Given the description of an element on the screen output the (x, y) to click on. 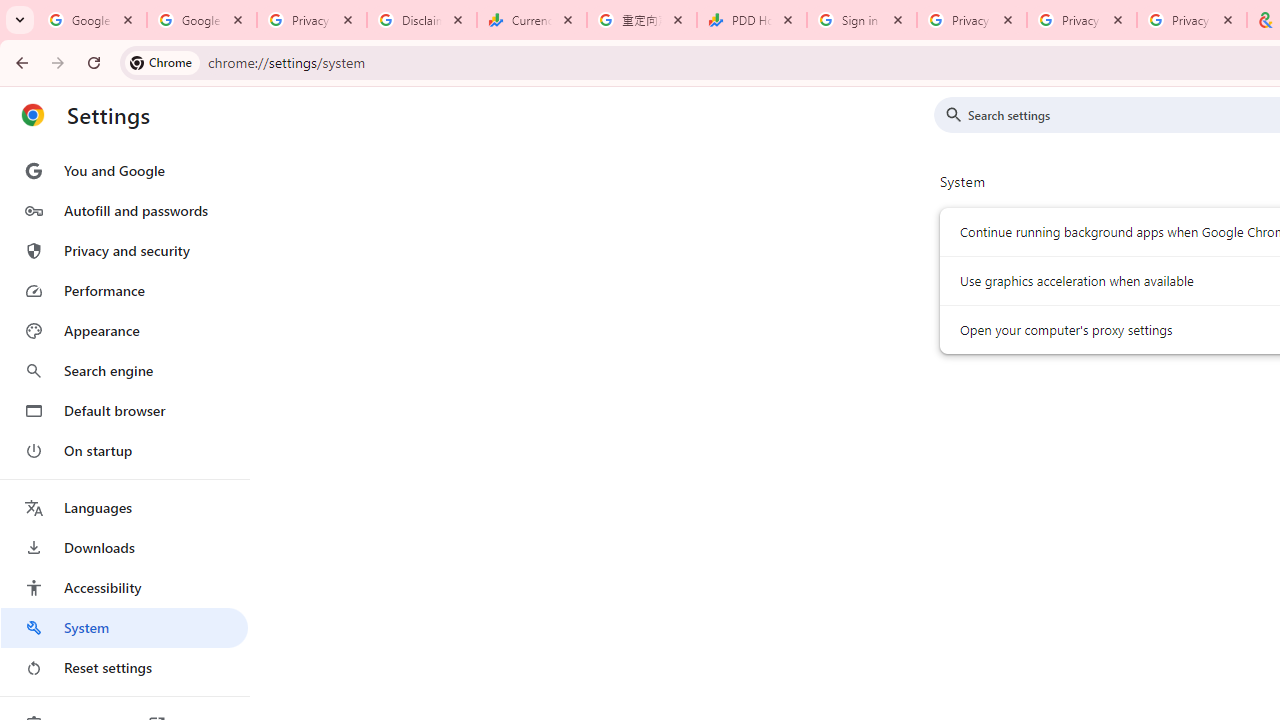
Search engine (124, 370)
Languages (124, 507)
Performance (124, 290)
Google Workspace Admin Community (92, 20)
Accessibility (124, 587)
Privacy and security (124, 250)
Sign in - Google Accounts (861, 20)
Reset settings (124, 668)
You and Google (124, 170)
Appearance (124, 331)
Autofill and passwords (124, 210)
